Given the description of an element on the screen output the (x, y) to click on. 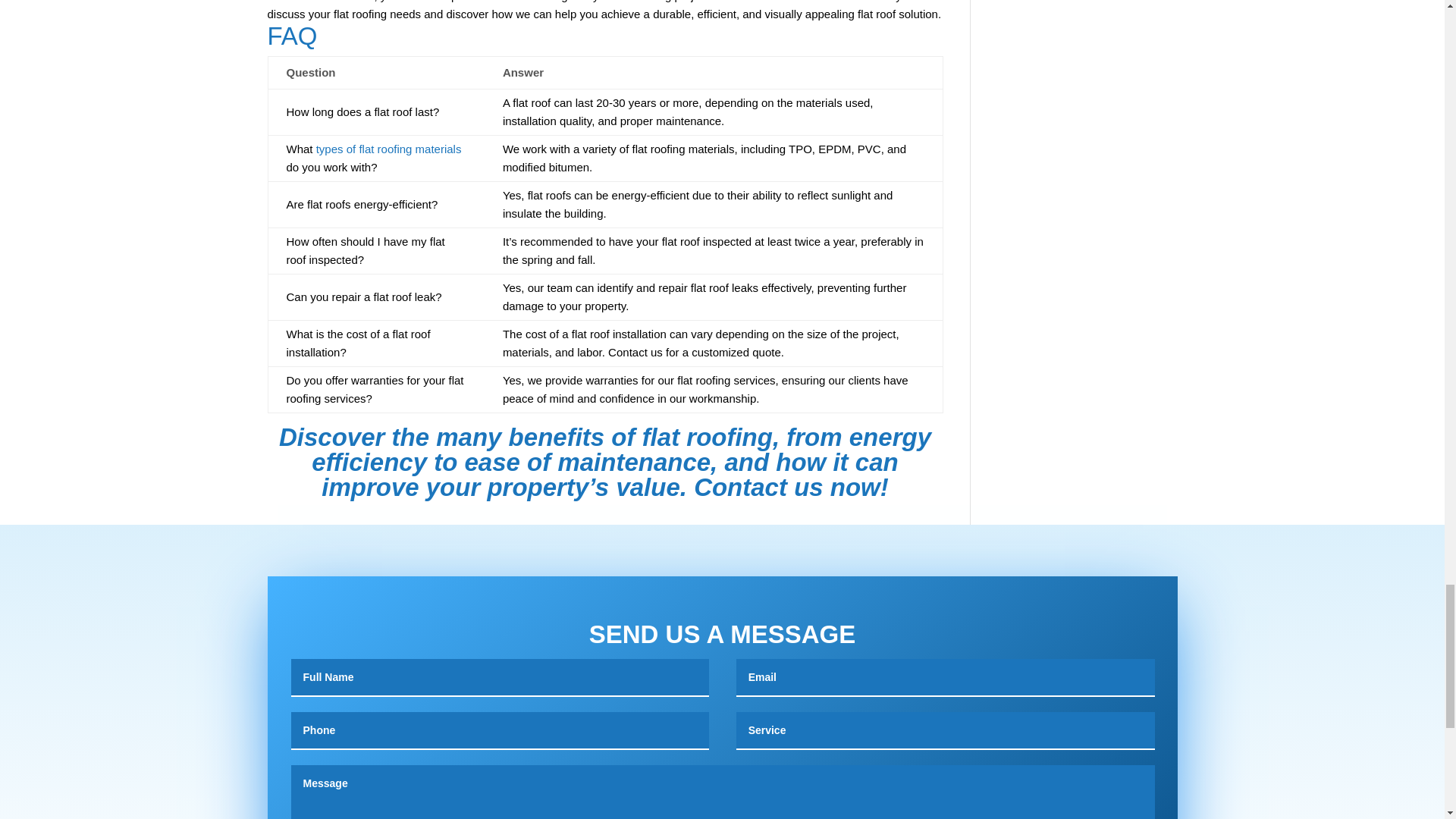
Maximum length: 100 characters. (945, 730)
Only numbers allowed. (500, 730)
